Given the description of an element on the screen output the (x, y) to click on. 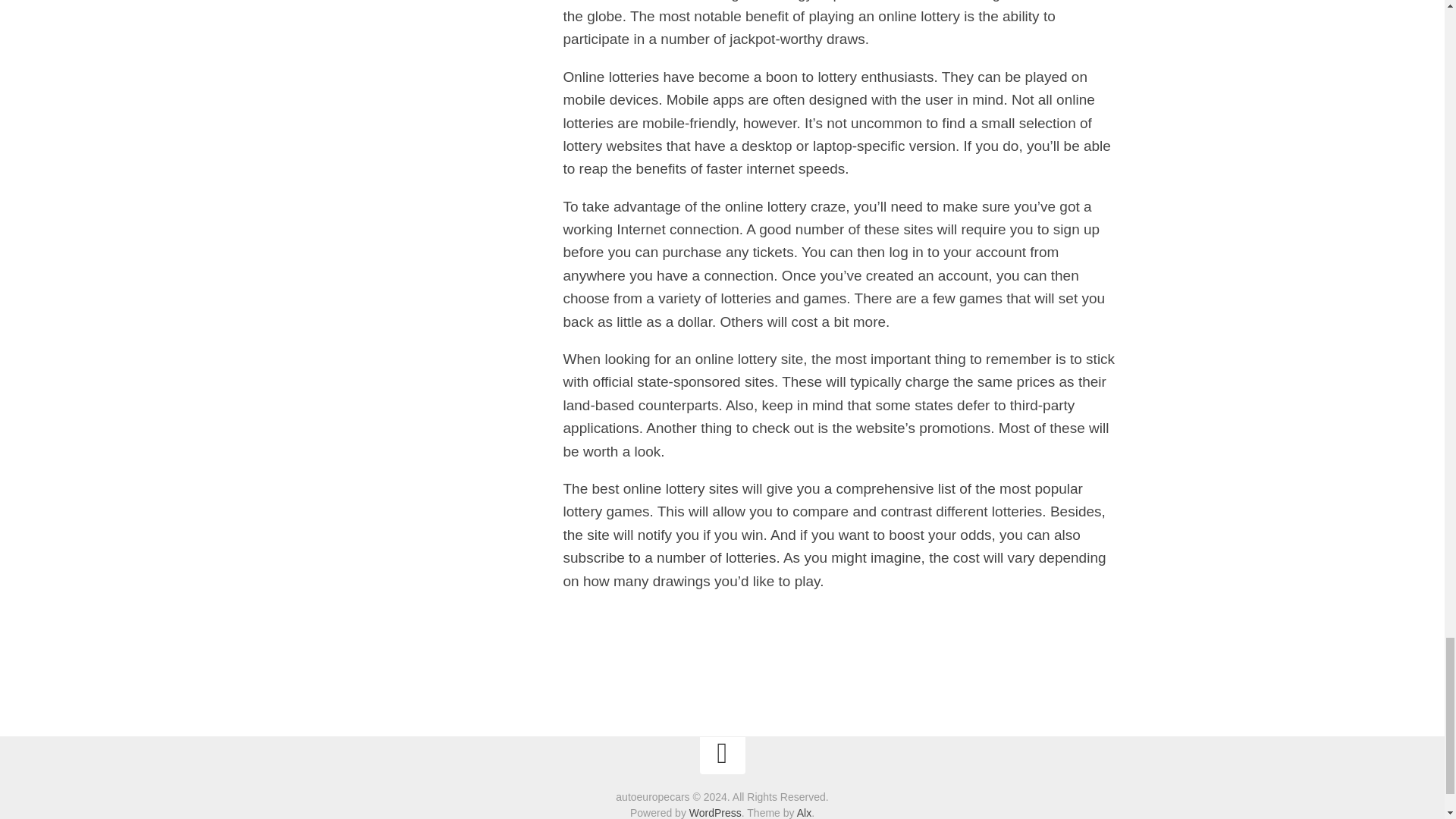
WordPress (714, 812)
Alx (803, 812)
